Given the description of an element on the screen output the (x, y) to click on. 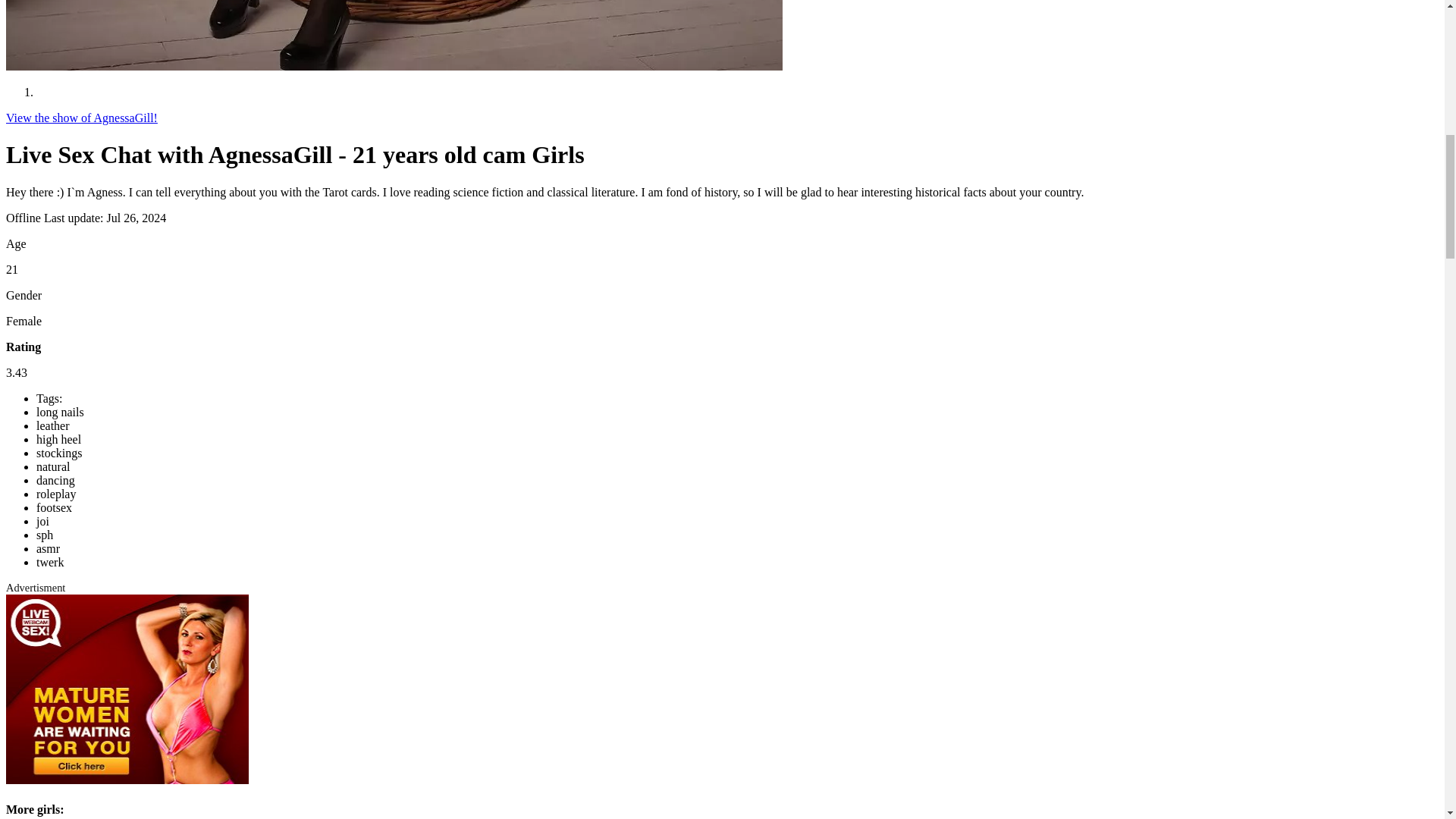
View the show of AgnessaGill! (81, 117)
View the show of AgnessaGill! (81, 117)
